Given the description of an element on the screen output the (x, y) to click on. 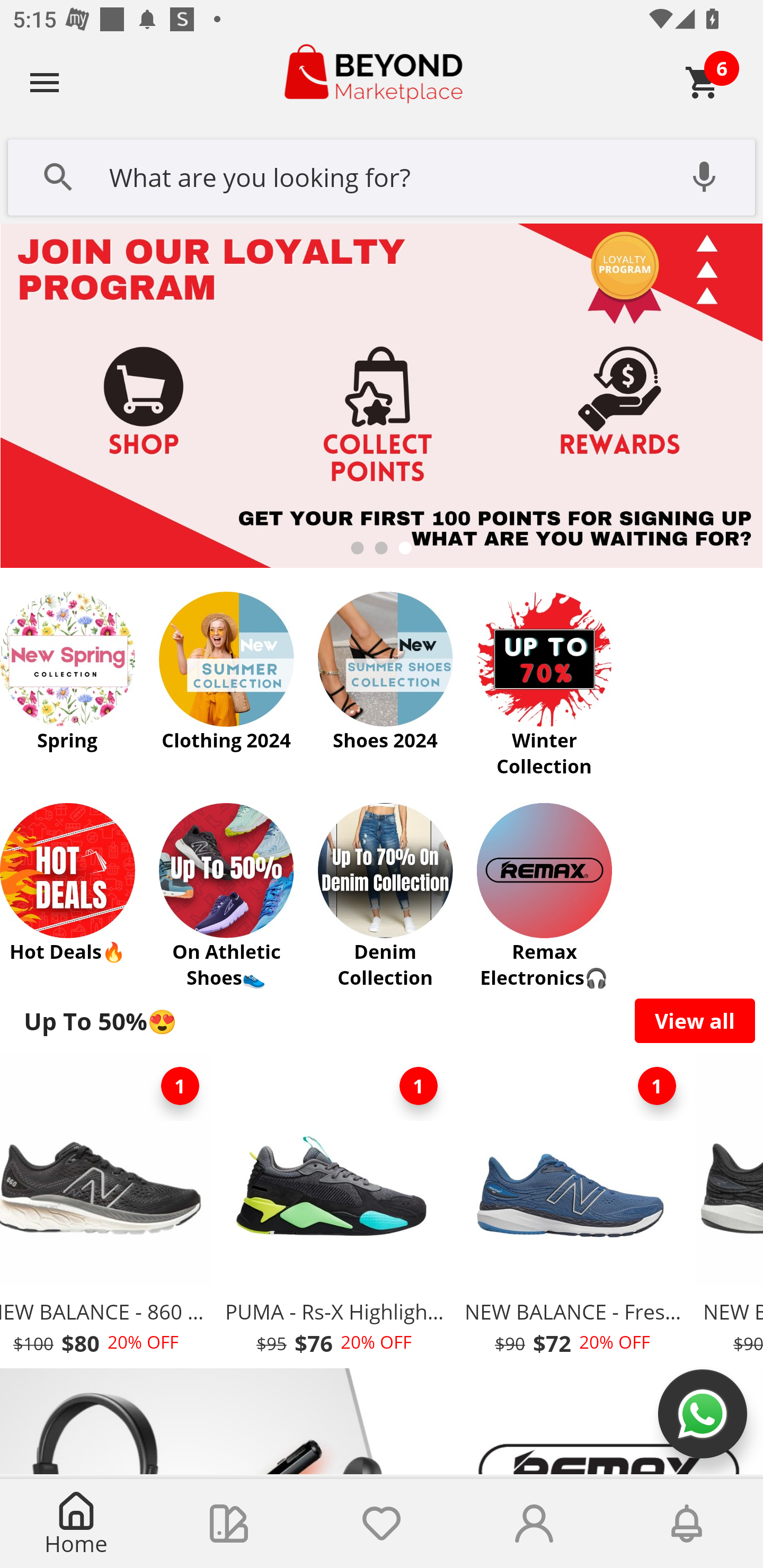
Navigate up (44, 82)
What are you looking for? (381, 175)
View all (694, 1020)
1 NEW BALANCE - 860 Running Shoes $100 $80 20% OFF (107, 1209)
1 (179, 1085)
1 (418, 1085)
1 (656, 1085)
Collections (228, 1523)
Wishlist (381, 1523)
Account (533, 1523)
Notifications (686, 1523)
